Given the description of an element on the screen output the (x, y) to click on. 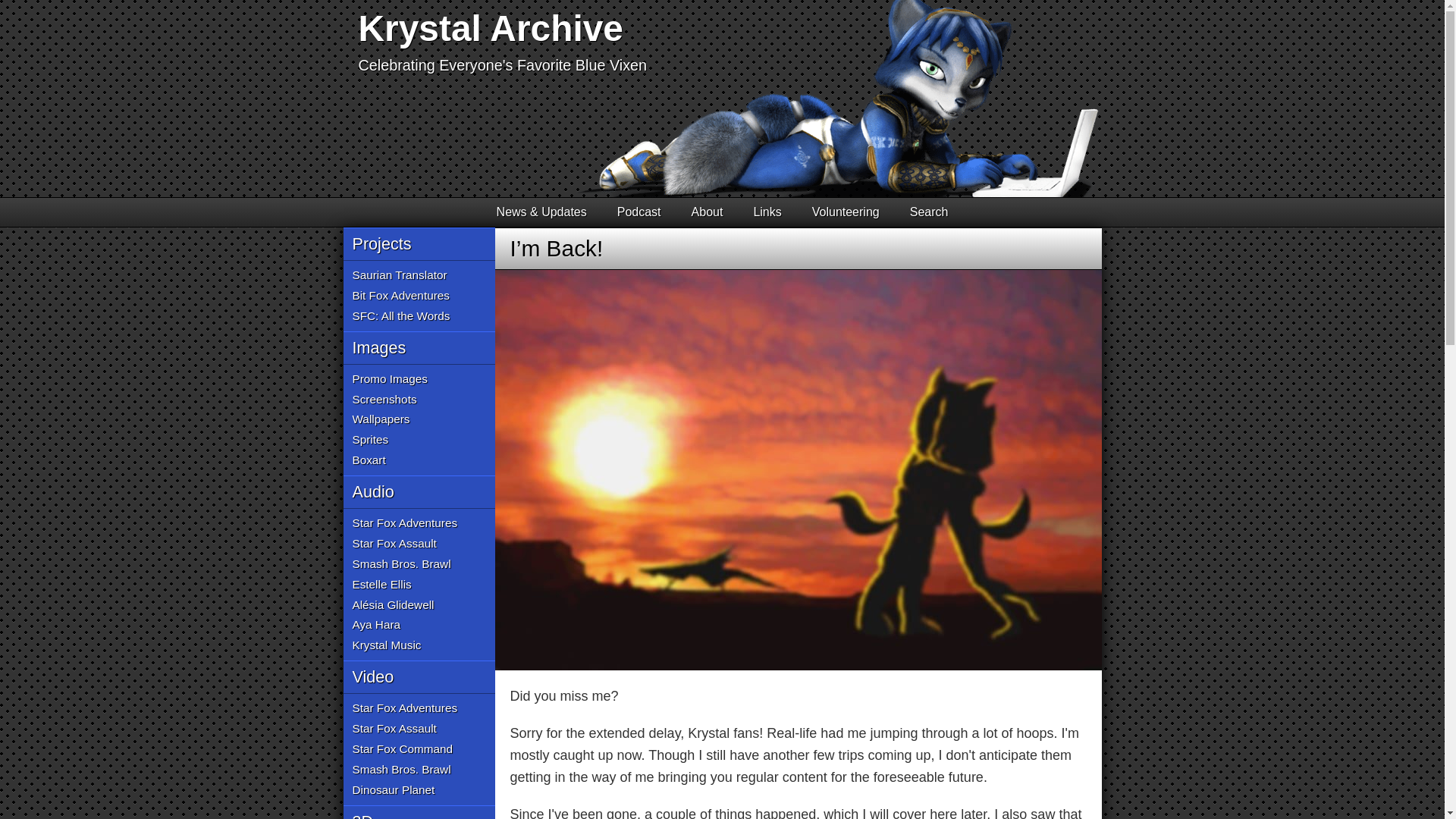
Projects (418, 244)
3D (418, 812)
Star Fox Adventures (404, 708)
Krystal Archive (490, 28)
Krystal Music (386, 645)
Star Fox Assault (394, 728)
Dinosaur Planet (392, 790)
Estelle Ellis (381, 584)
Volunteering (845, 212)
Links (767, 212)
